Given the description of an element on the screen output the (x, y) to click on. 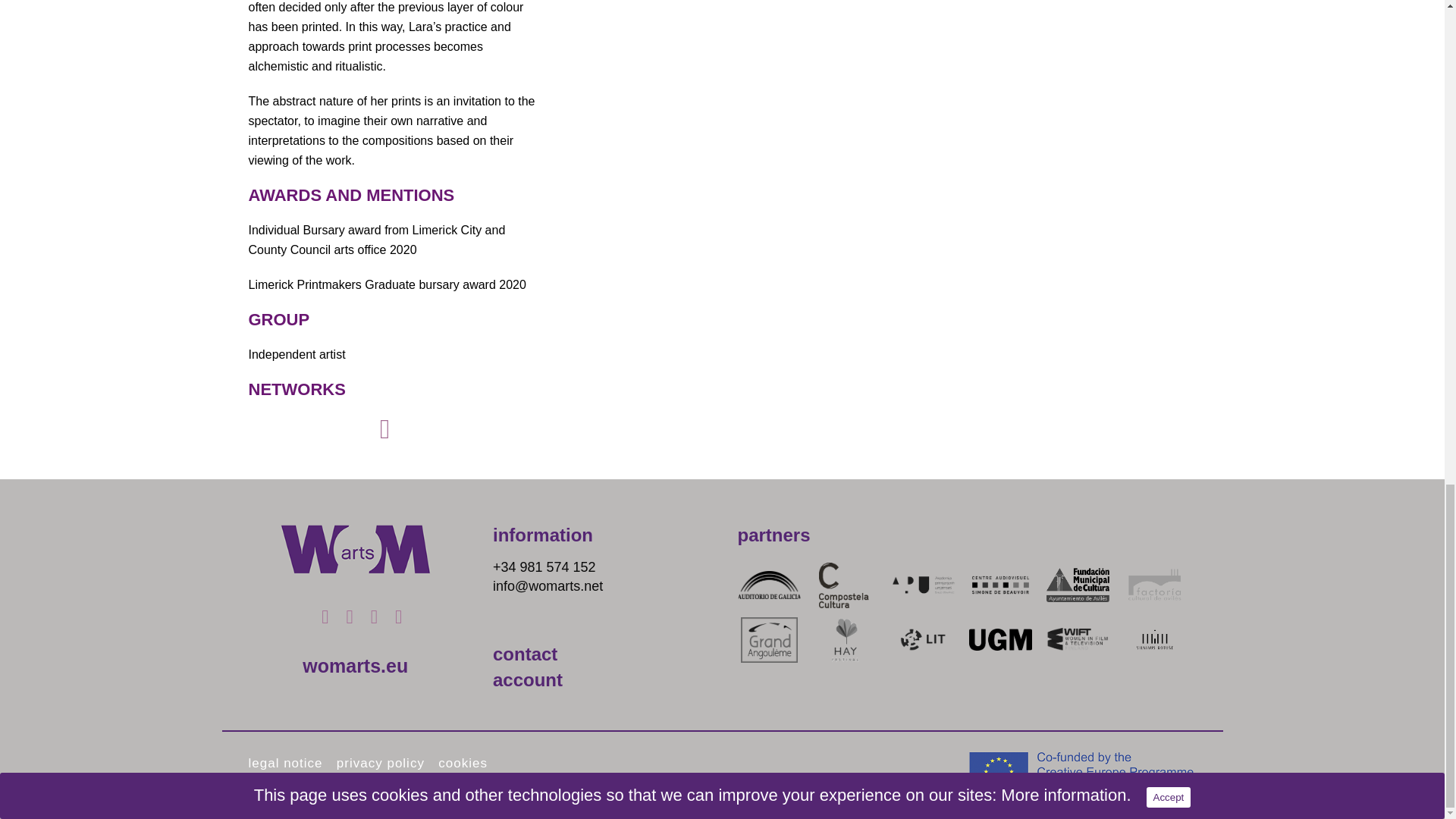
womarts.eu (354, 665)
privacy policy (380, 762)
legal notice (285, 762)
cookies (462, 762)
account (527, 679)
contact (525, 653)
